Given the description of an element on the screen output the (x, y) to click on. 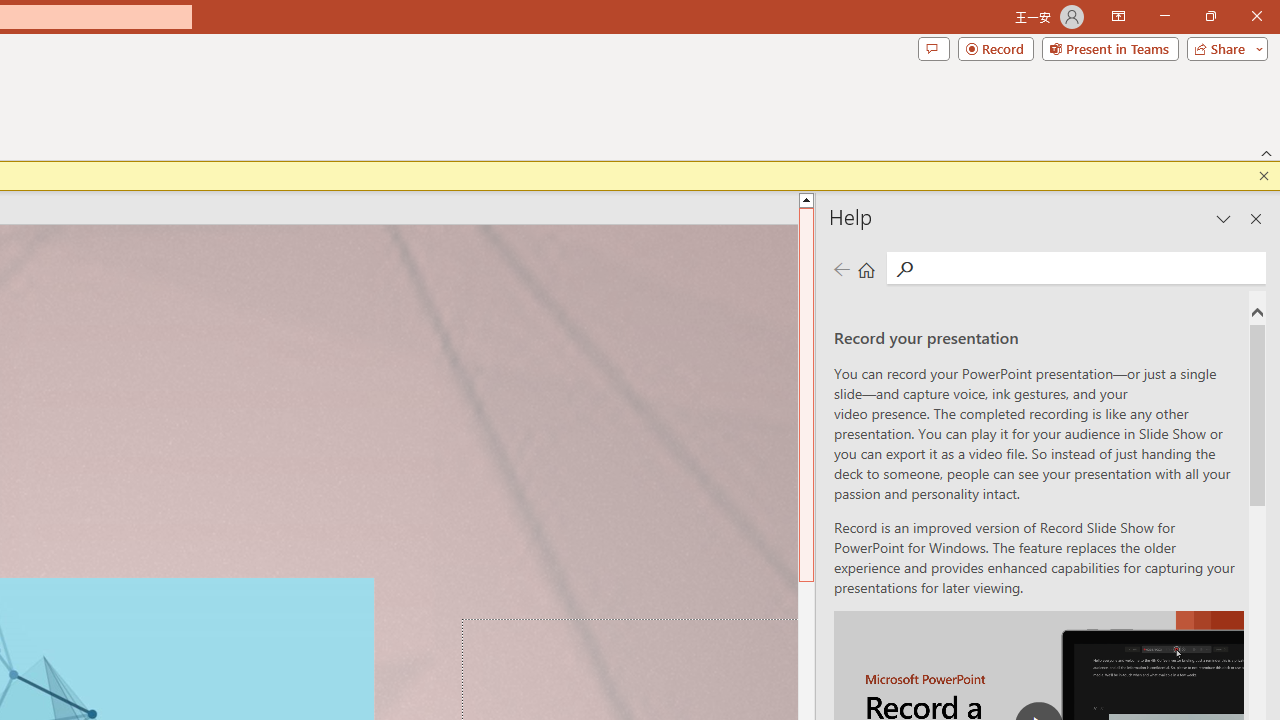
Close this message (1263, 176)
